Given the description of an element on the screen output the (x, y) to click on. 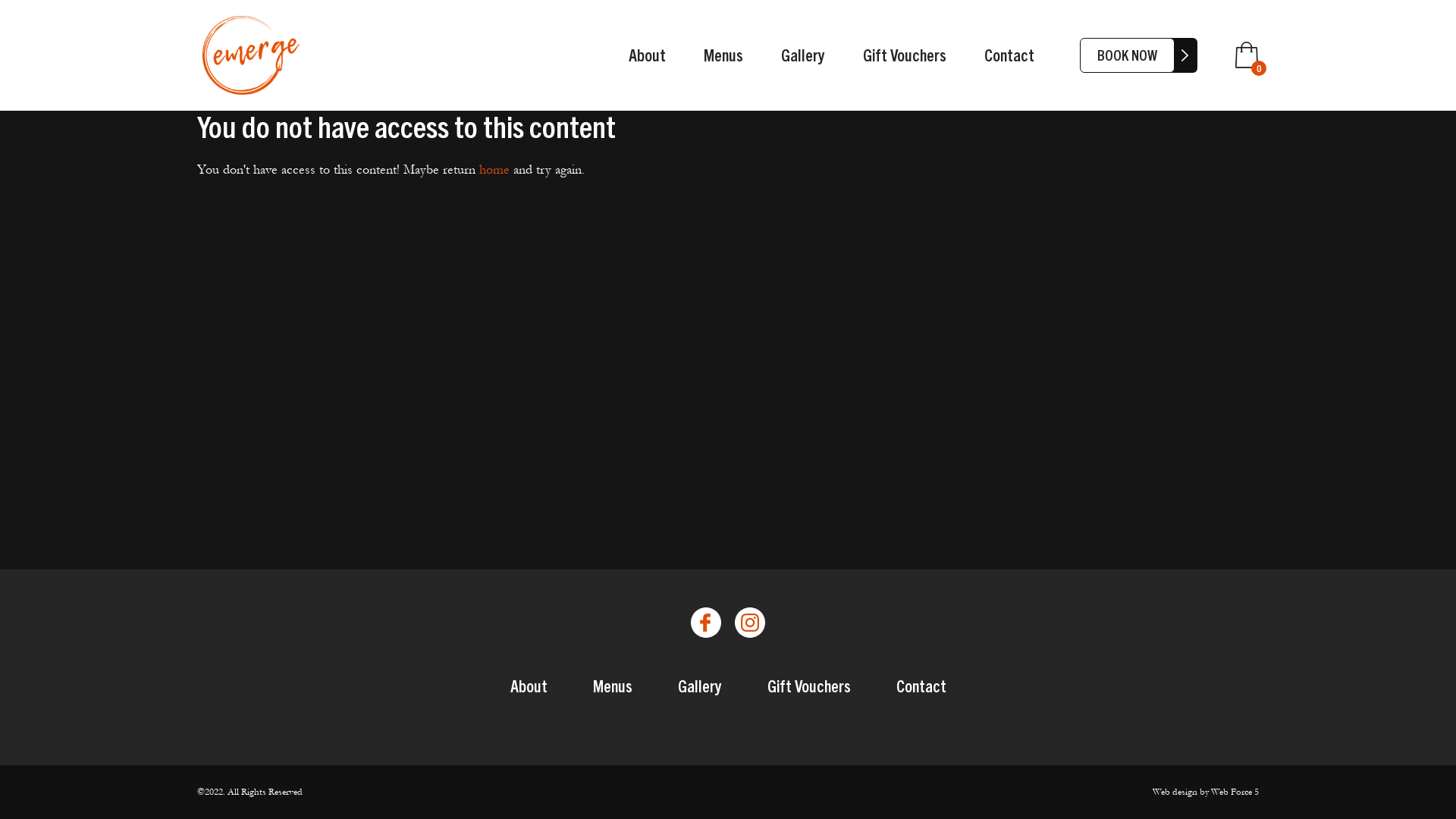
Web Force 5 Element type: text (1234, 791)
Gallery Element type: text (699, 685)
BOOK NOW Element type: text (1127, 55)
Menus Element type: text (723, 54)
Gift Vouchers Element type: text (808, 685)
Contact Element type: text (921, 685)
home Element type: text (494, 169)
About Element type: text (646, 54)
Menus Element type: text (612, 685)
Contact Element type: text (1009, 54)
Gift Vouchers Element type: text (904, 54)
Gallery Element type: text (803, 54)
About Element type: text (527, 685)
0 Element type: text (1246, 54)
